Given the description of an element on the screen output the (x, y) to click on. 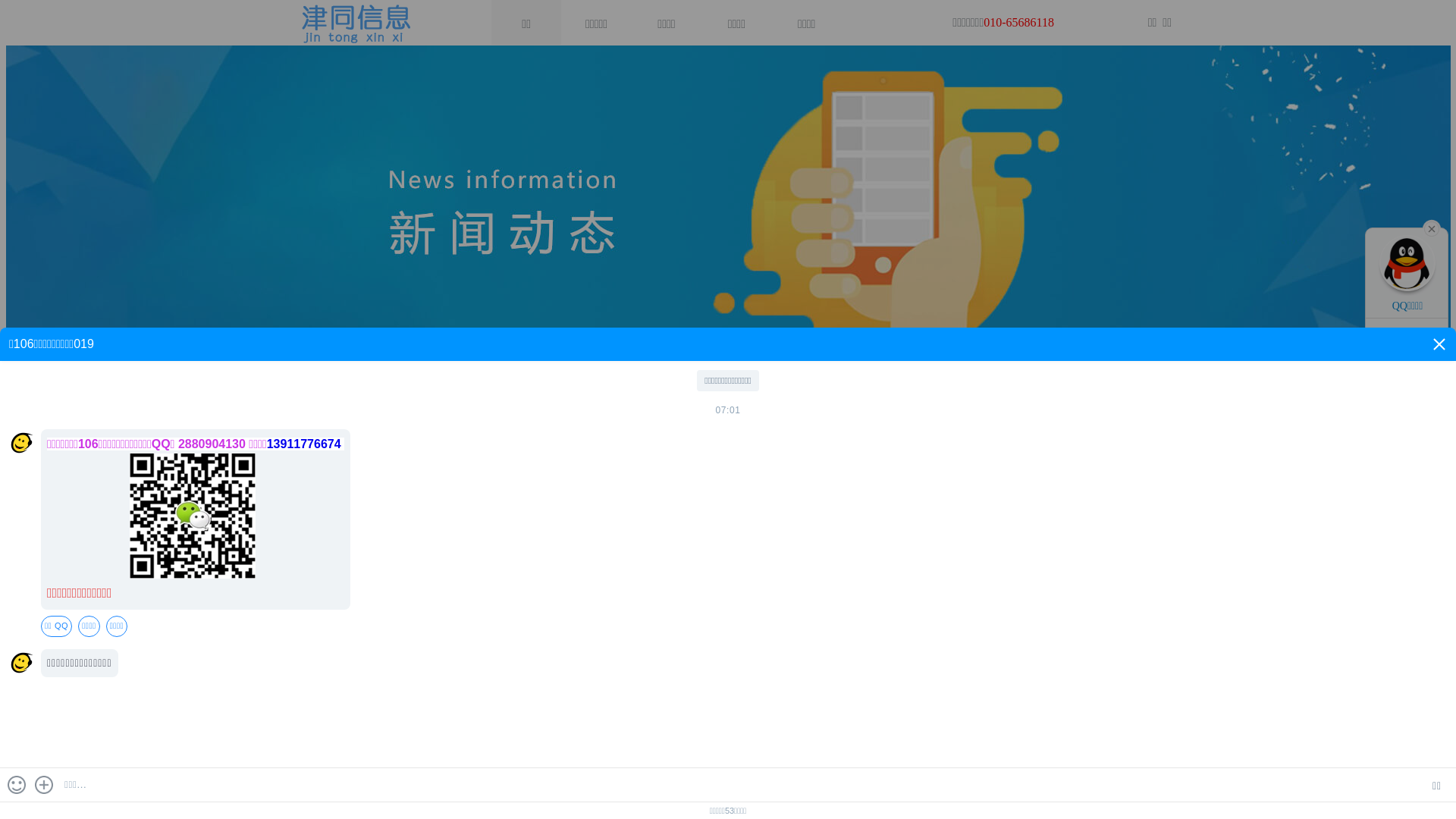
  Element type: text (1431, 227)
